Given the description of an element on the screen output the (x, y) to click on. 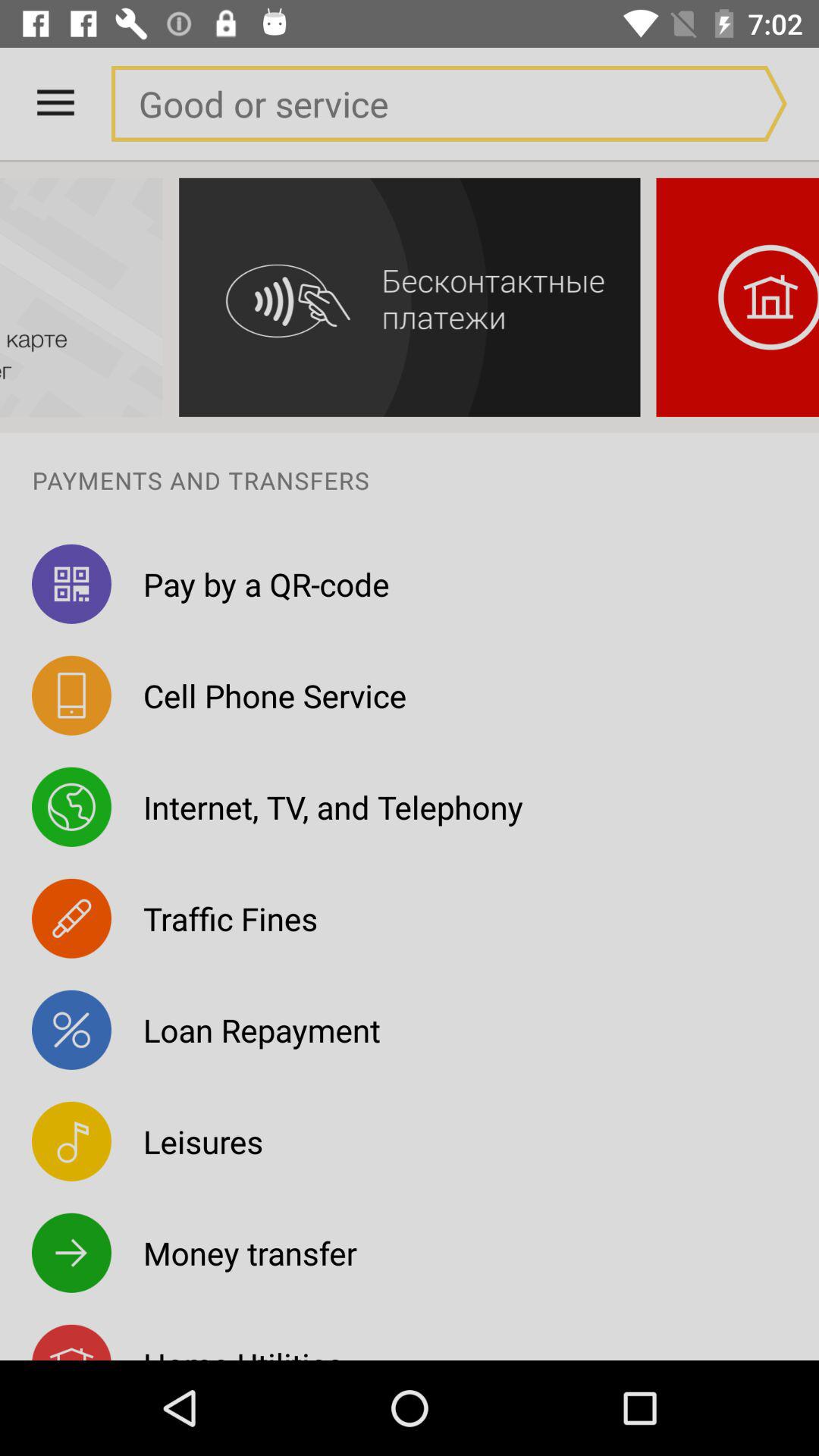
a blank field when used searches for goods or a service (417, 103)
